Given the description of an element on the screen output the (x, y) to click on. 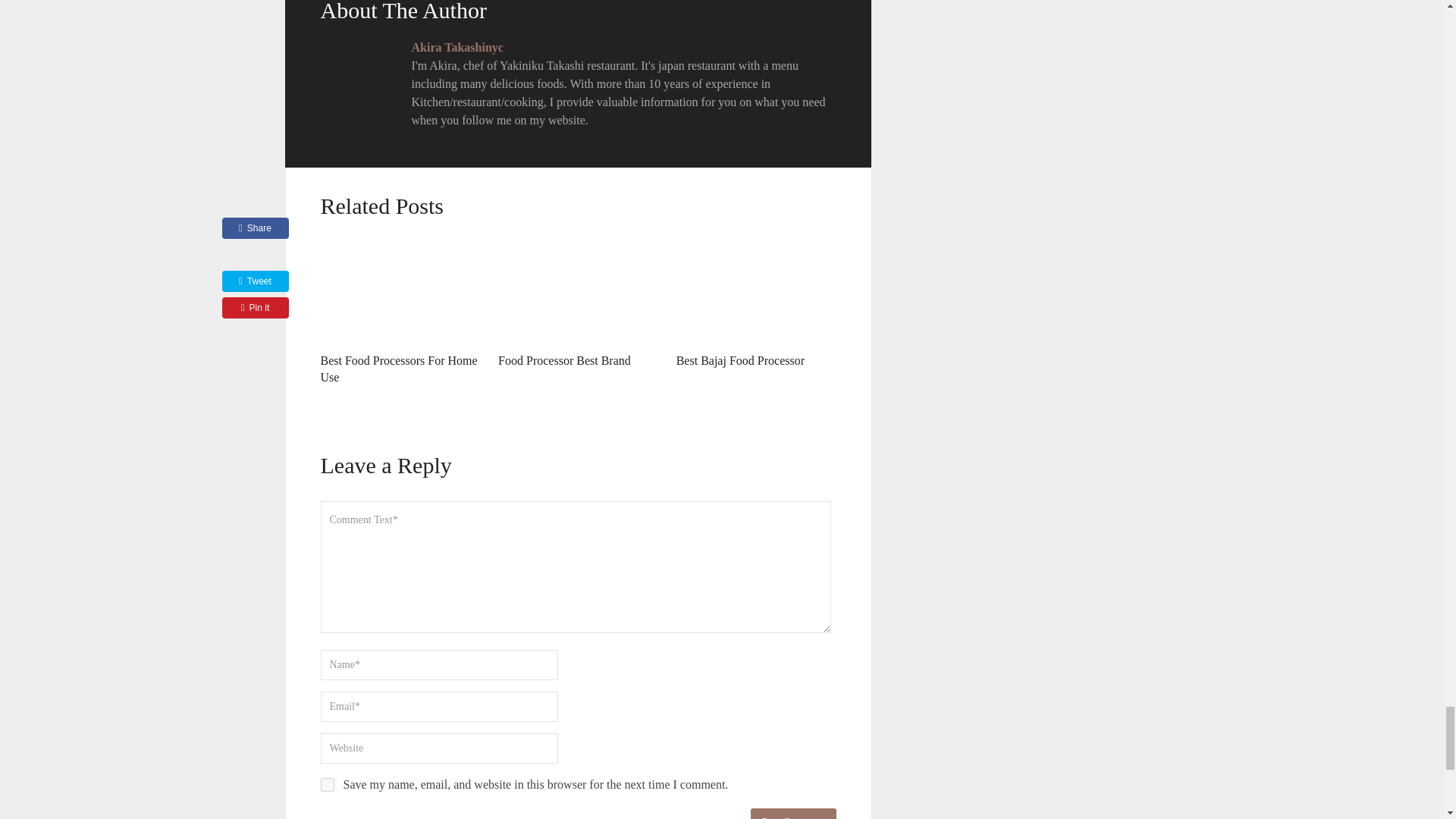
yes (326, 784)
Post Comment (793, 813)
